Given the description of an element on the screen output the (x, y) to click on. 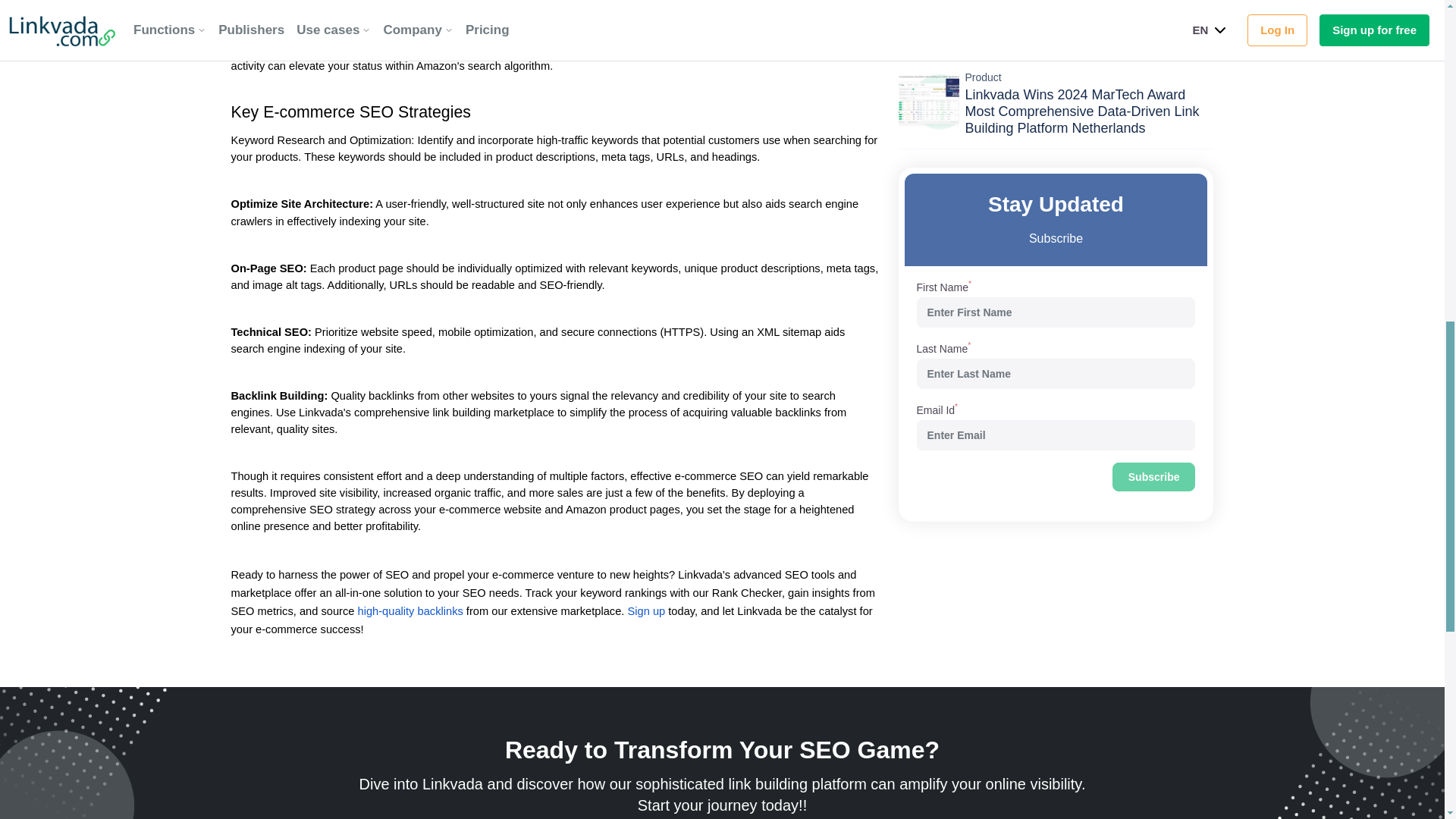
high-quality backlinks (409, 609)
Sign up (646, 609)
